Given the description of an element on the screen output the (x, y) to click on. 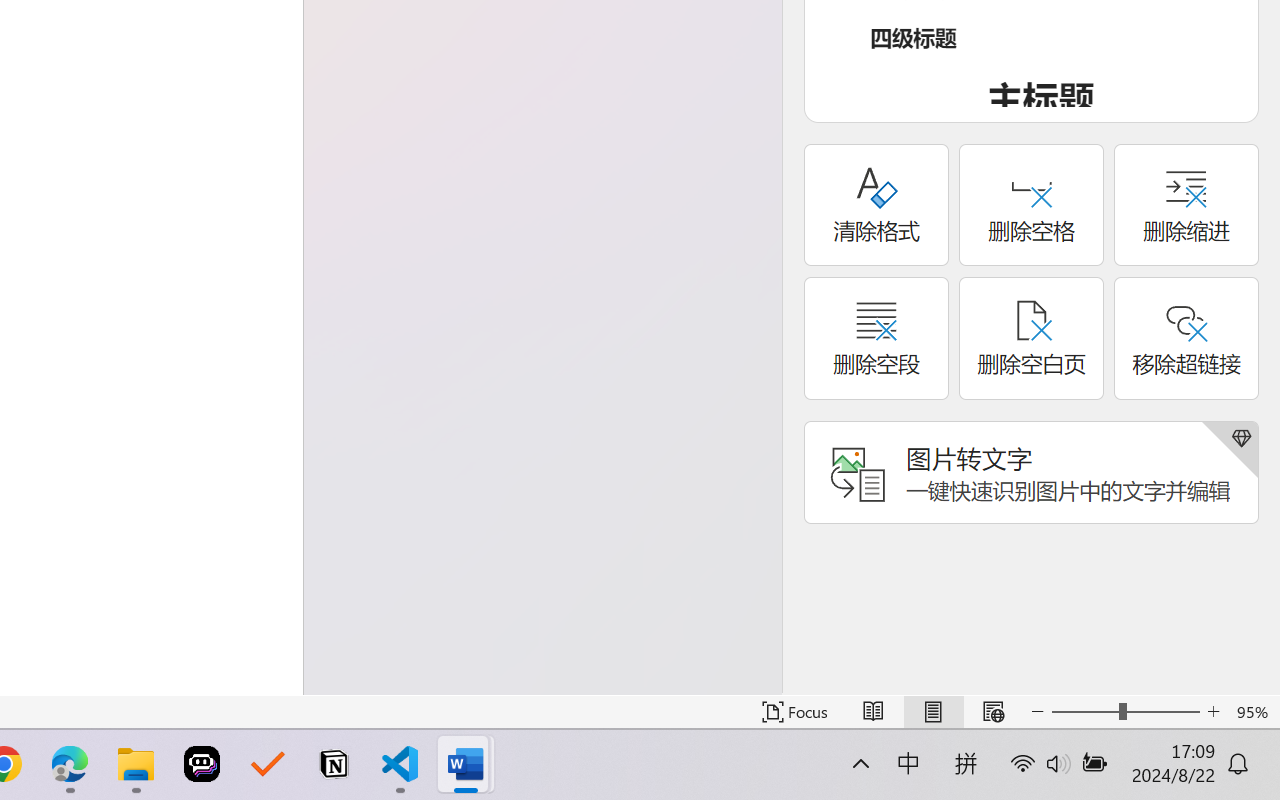
Zoom 95% (1253, 712)
